Given the description of an element on the screen output the (x, y) to click on. 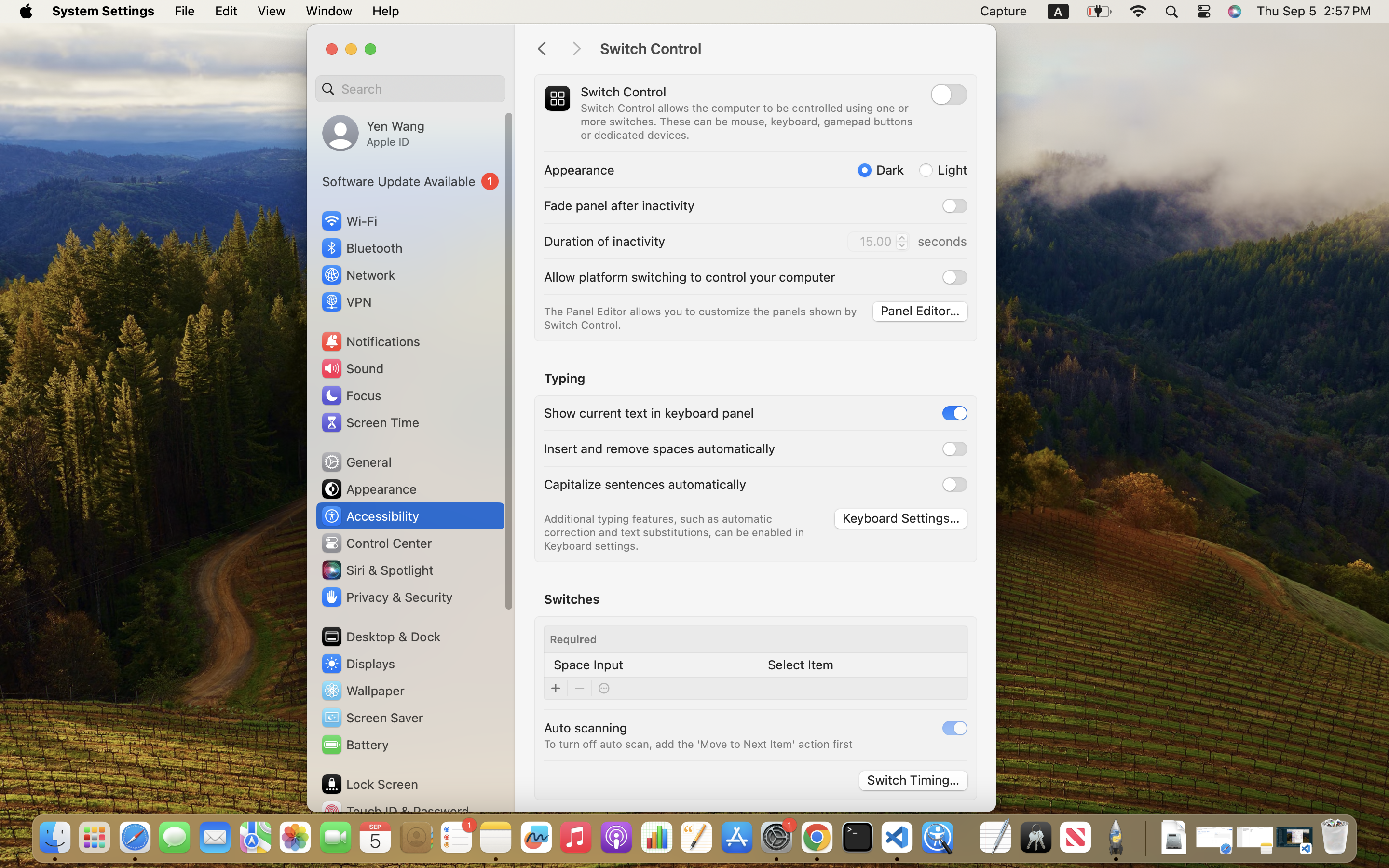
Siri & Spotlight Element type: AXStaticText (376, 569)
Displays Element type: AXStaticText (357, 663)
Control Center Element type: AXStaticText (376, 542)
Select Item Element type: AXStaticText (800, 664)
Accessibility Element type: AXStaticText (369, 515)
